Given the description of an element on the screen output the (x, y) to click on. 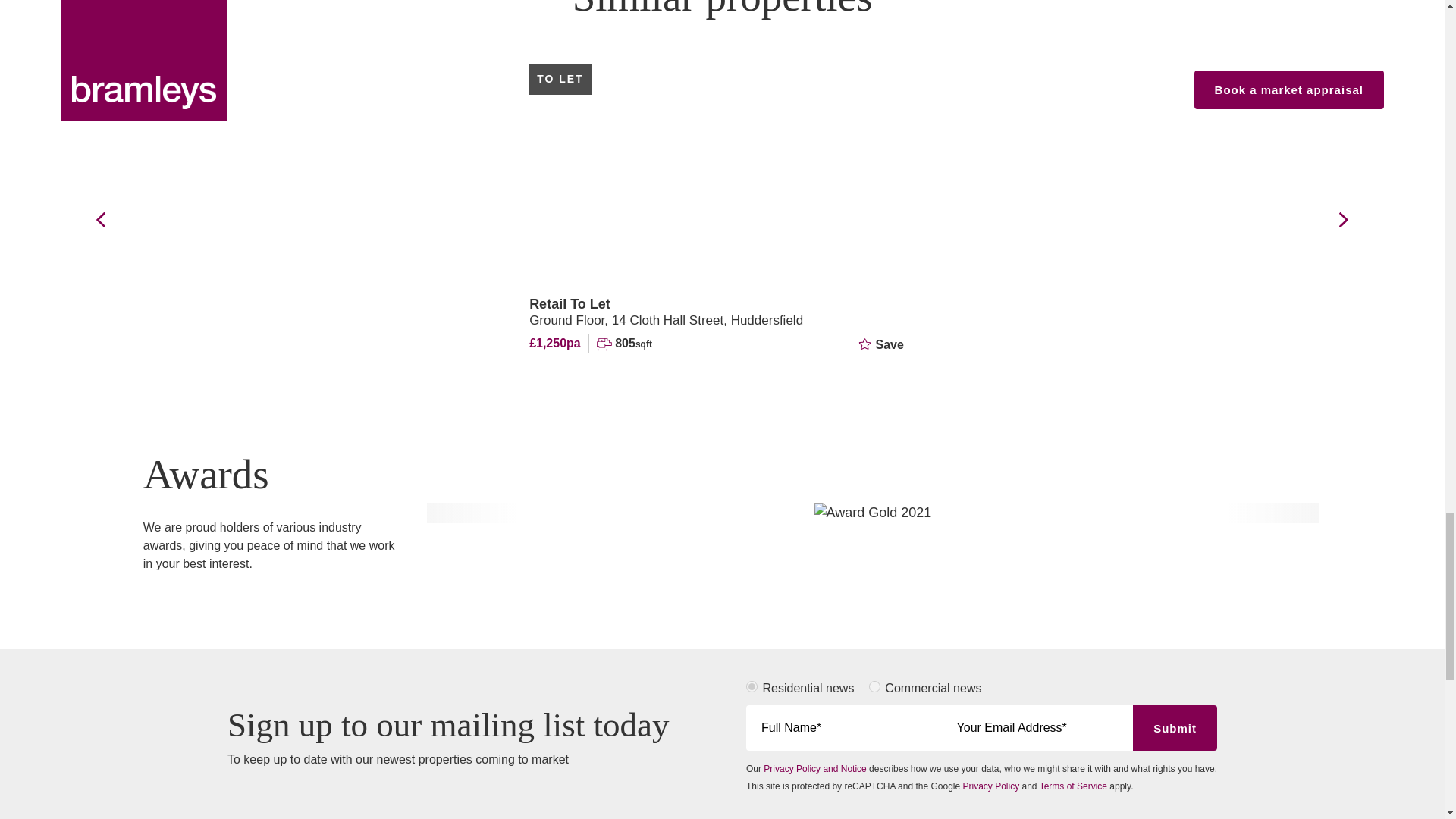
sales (751, 686)
commercial (874, 686)
Save (880, 344)
